Given the description of an element on the screen output the (x, y) to click on. 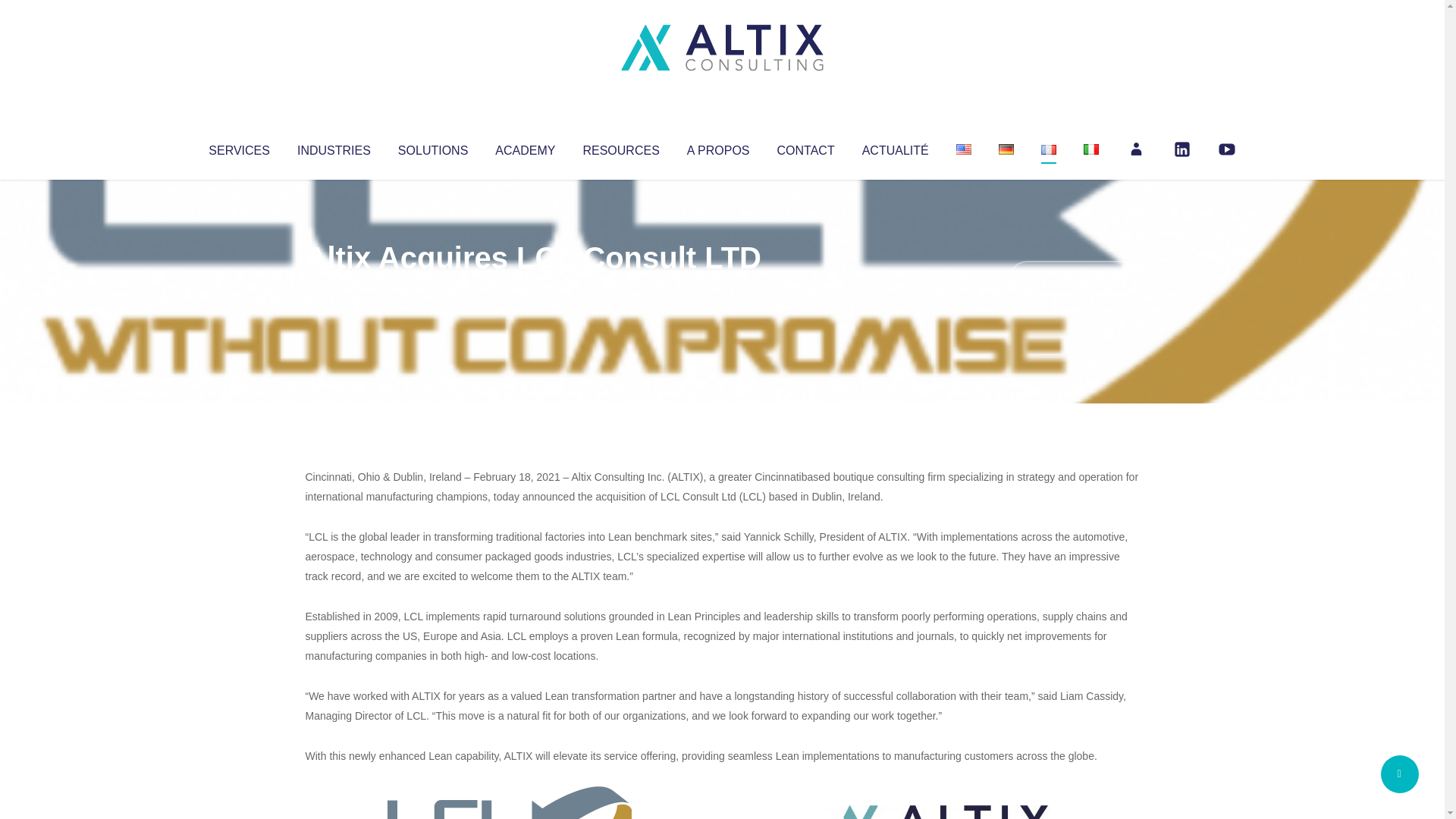
RESOURCES (620, 146)
Articles par Altix (333, 287)
SERVICES (238, 146)
No Comments (1073, 278)
SOLUTIONS (432, 146)
A PROPOS (718, 146)
Altix (333, 287)
ACADEMY (524, 146)
Uncategorized (530, 287)
INDUSTRIES (334, 146)
